Given the description of an element on the screen output the (x, y) to click on. 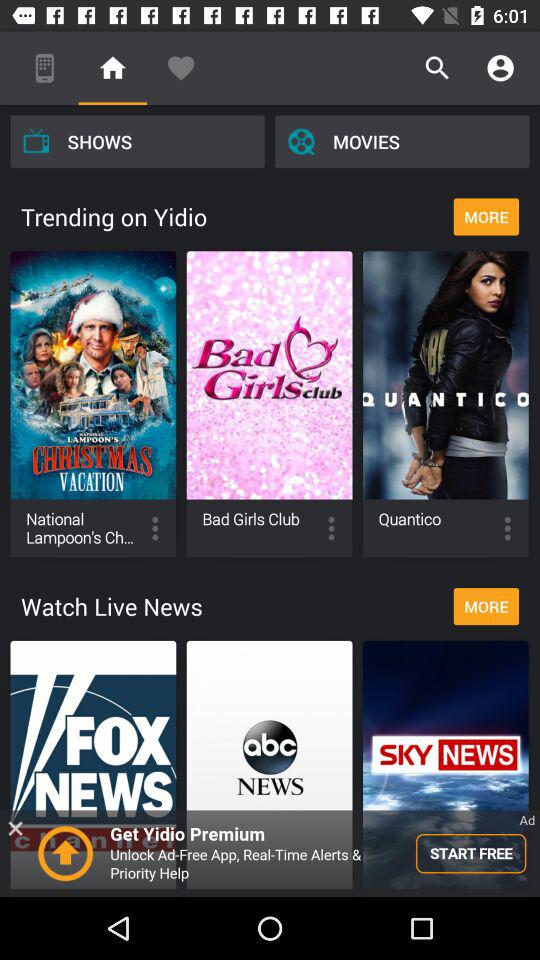
turn on the icon above movies icon (437, 67)
